Given the description of an element on the screen output the (x, y) to click on. 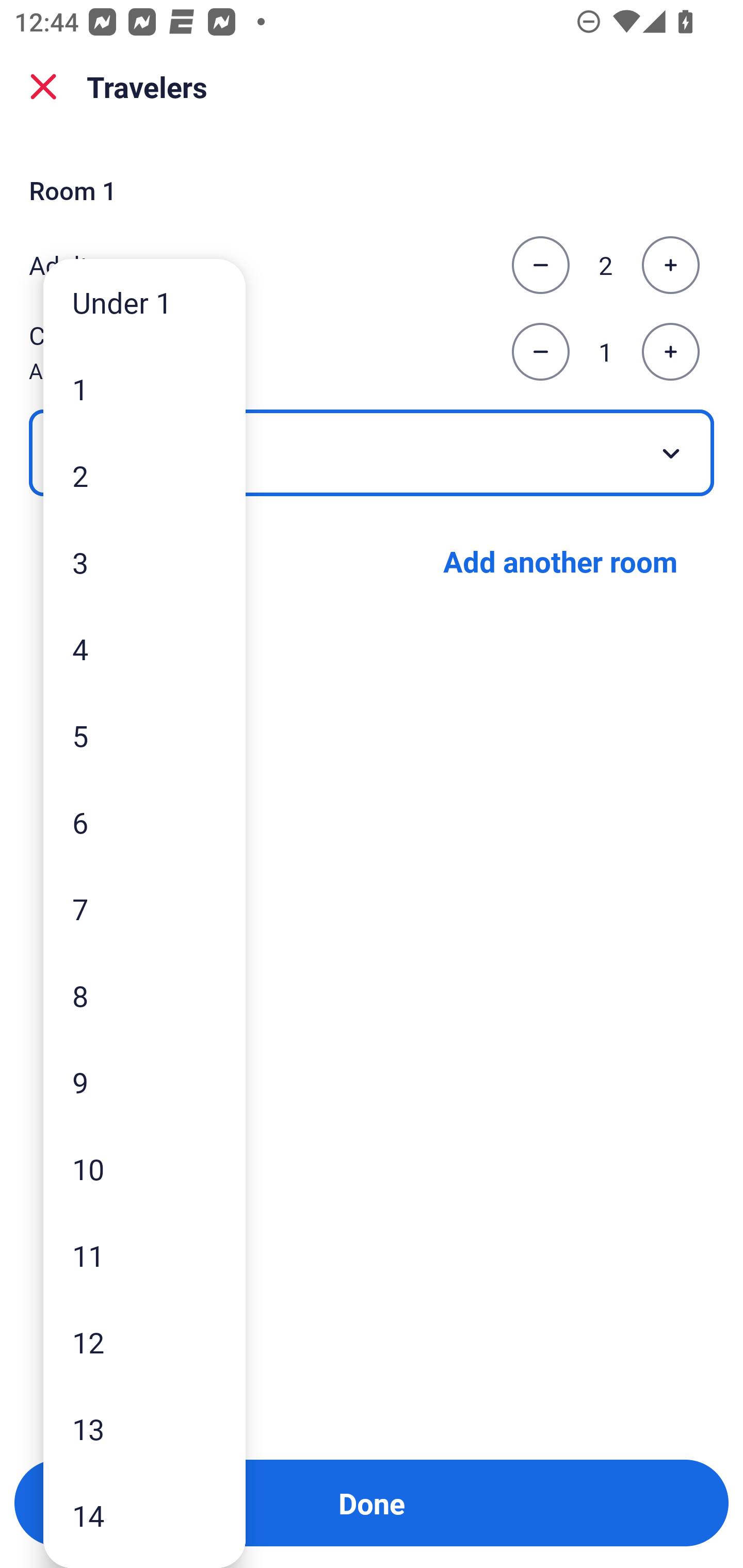
Under 1 (144, 301)
1 (144, 388)
2 (144, 475)
3 (144, 562)
4 (144, 648)
5 (144, 735)
6 (144, 822)
7 (144, 908)
8 (144, 994)
9 (144, 1081)
10 (144, 1168)
11 (144, 1255)
12 (144, 1342)
13 (144, 1429)
14 (144, 1515)
